Given the description of an element on the screen output the (x, y) to click on. 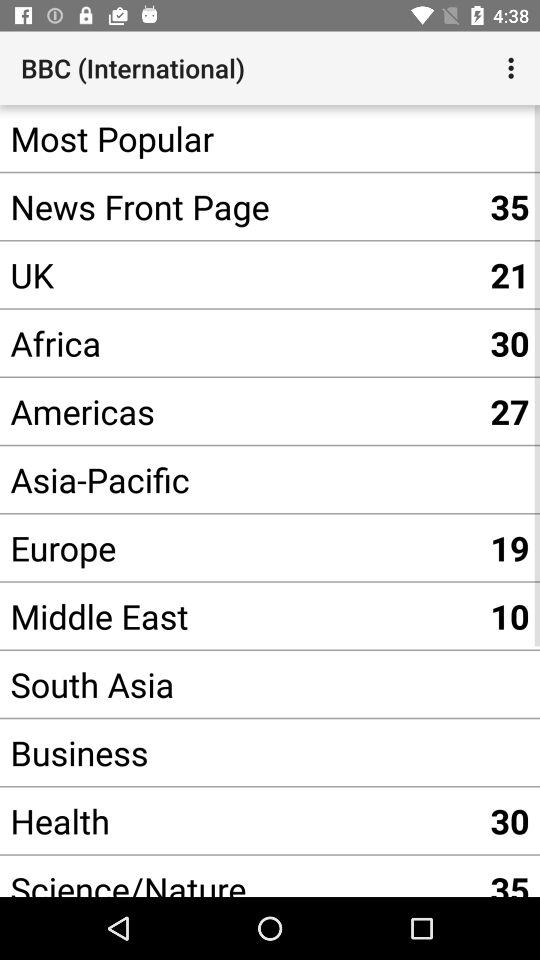
select item above business icon (240, 684)
